Given the description of an element on the screen output the (x, y) to click on. 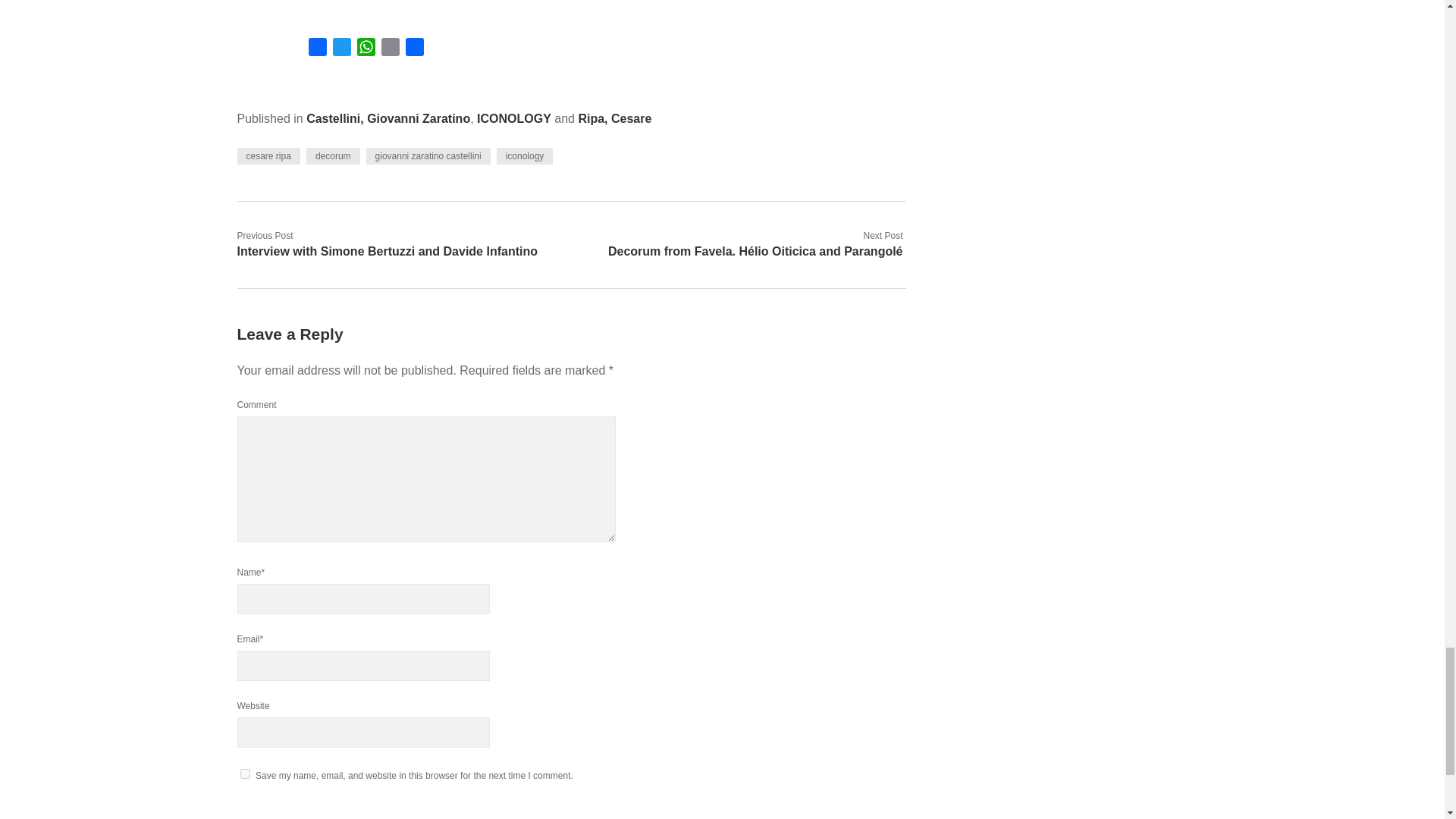
View all posts in Ripa, Cesare (614, 118)
giovanni zaratino castellini (428, 156)
Email (389, 49)
View all posts tagged iconology (524, 156)
yes (244, 773)
Castellini, Giovanni Zaratino (387, 118)
Share (413, 49)
Email (389, 49)
iconology (524, 156)
View all posts tagged giovanni zaratino castellini (428, 156)
